Given the description of an element on the screen output the (x, y) to click on. 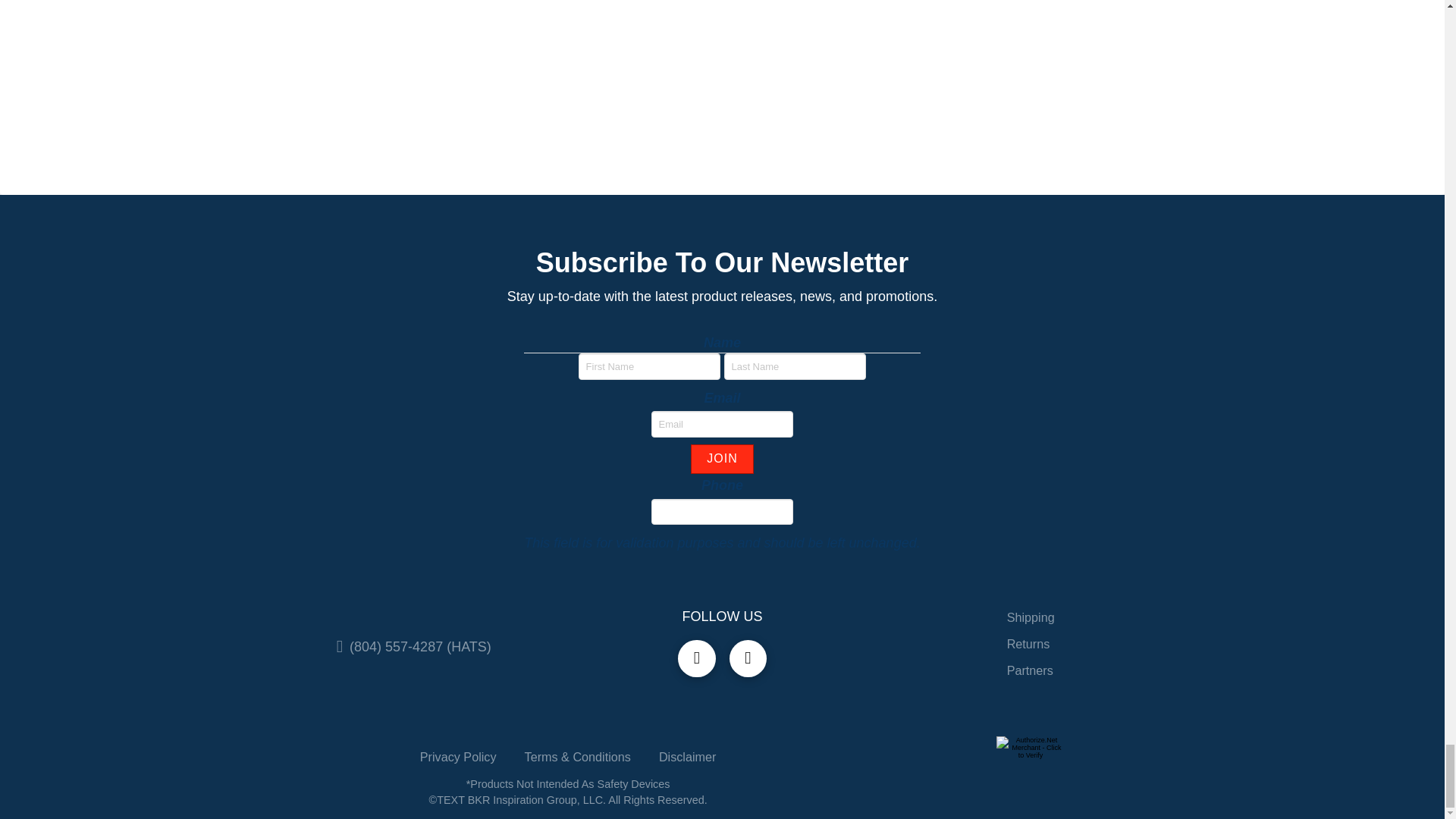
Shipping (1030, 620)
Partners (1030, 673)
Privacy Policy (458, 756)
Join (721, 459)
Disclaimer (687, 756)
Join (721, 459)
Returns (1028, 646)
